Given the description of an element on the screen output the (x, y) to click on. 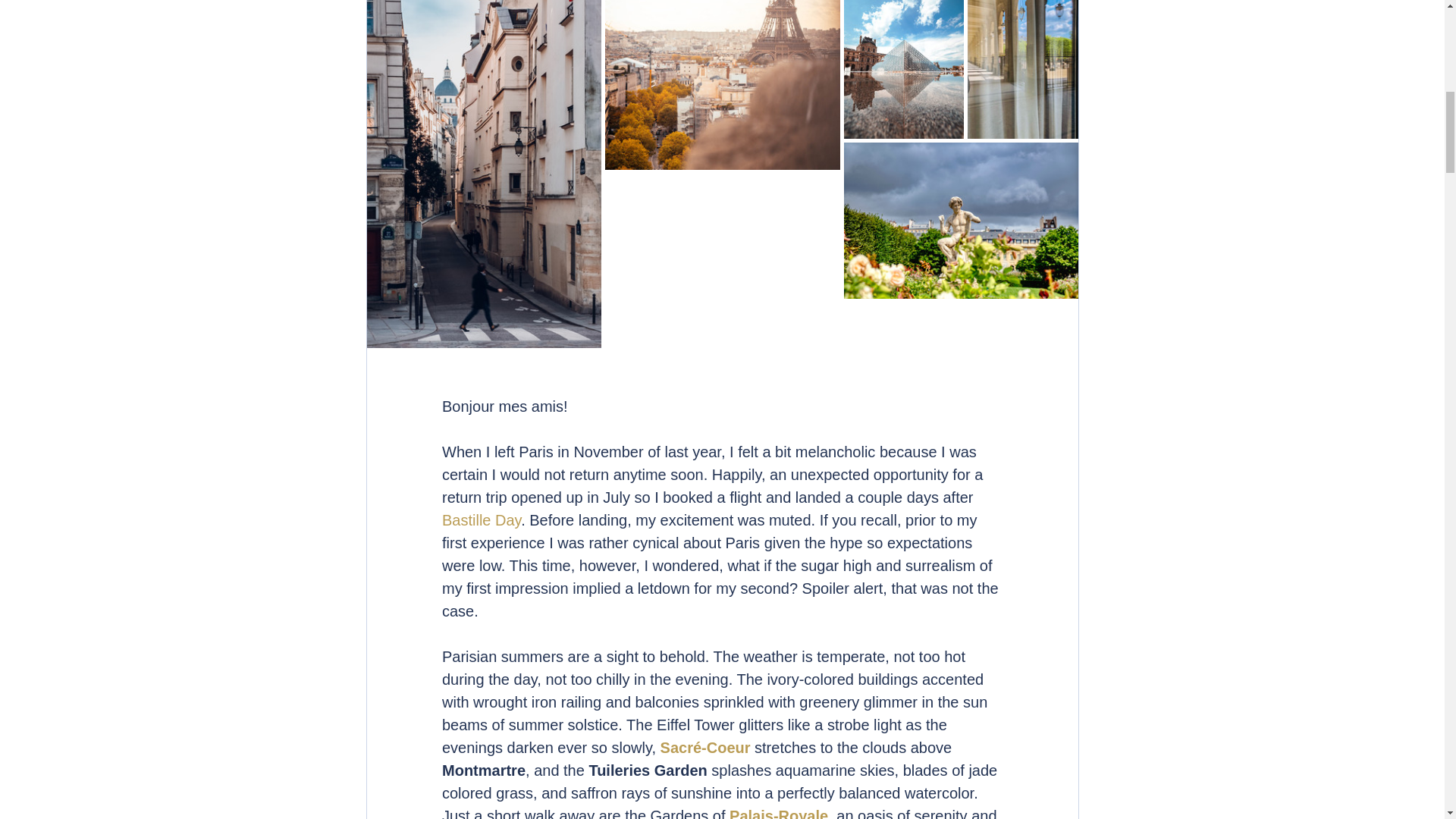
Palais-Royale (778, 813)
Bastille Day (480, 519)
